Given the description of an element on the screen output the (x, y) to click on. 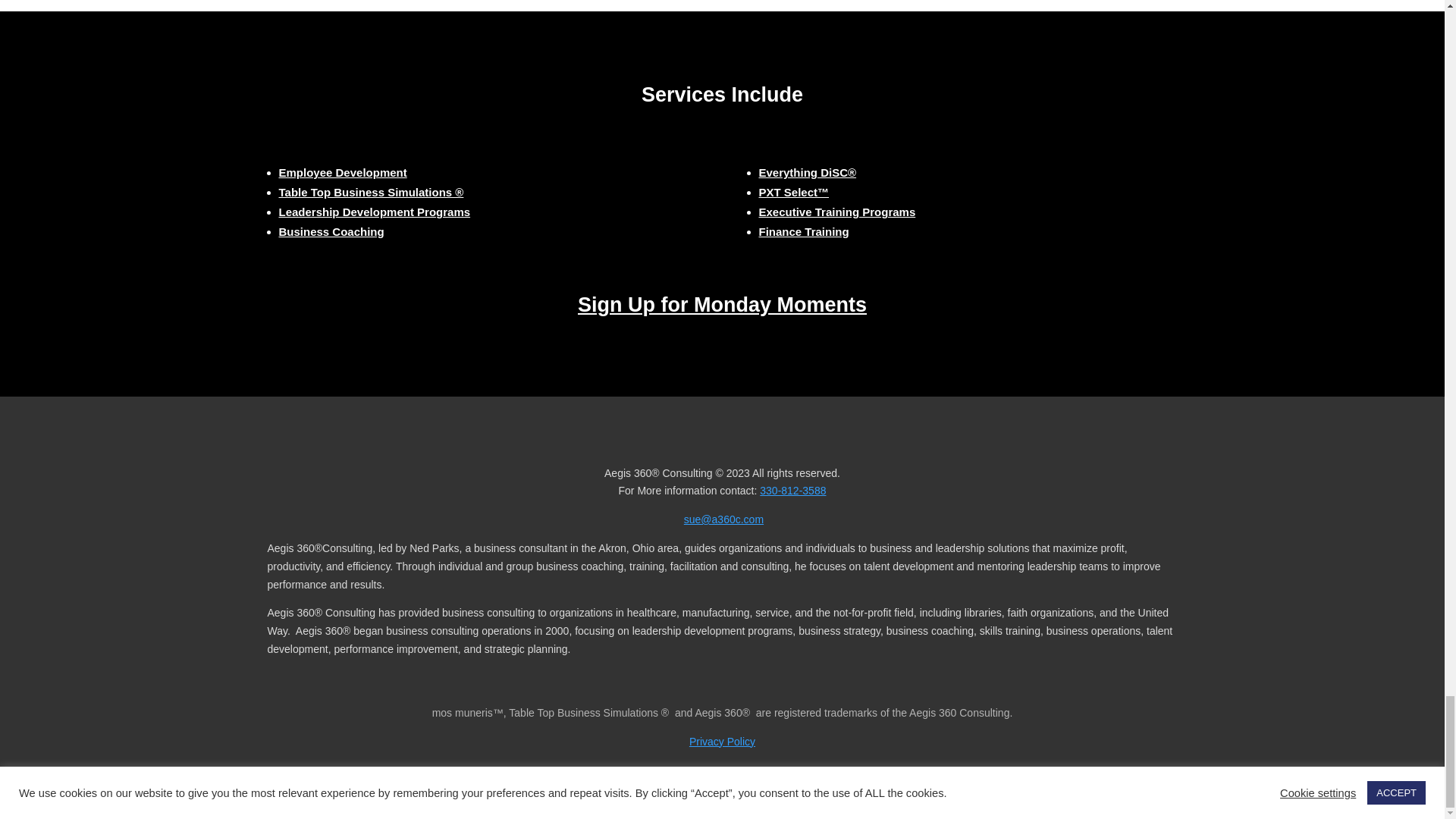
Table Top Business Simulations (371, 192)
onboarding and prehire assessments (793, 192)
Employee Development (343, 172)
Business Coaching (331, 231)
Workshops (836, 211)
Leadership (374, 211)
Privacy Policy (721, 741)
Finance for the non-finance manager (803, 231)
Email Sign up (722, 304)
PXT Select (343, 172)
